Given the description of an element on the screen output the (x, y) to click on. 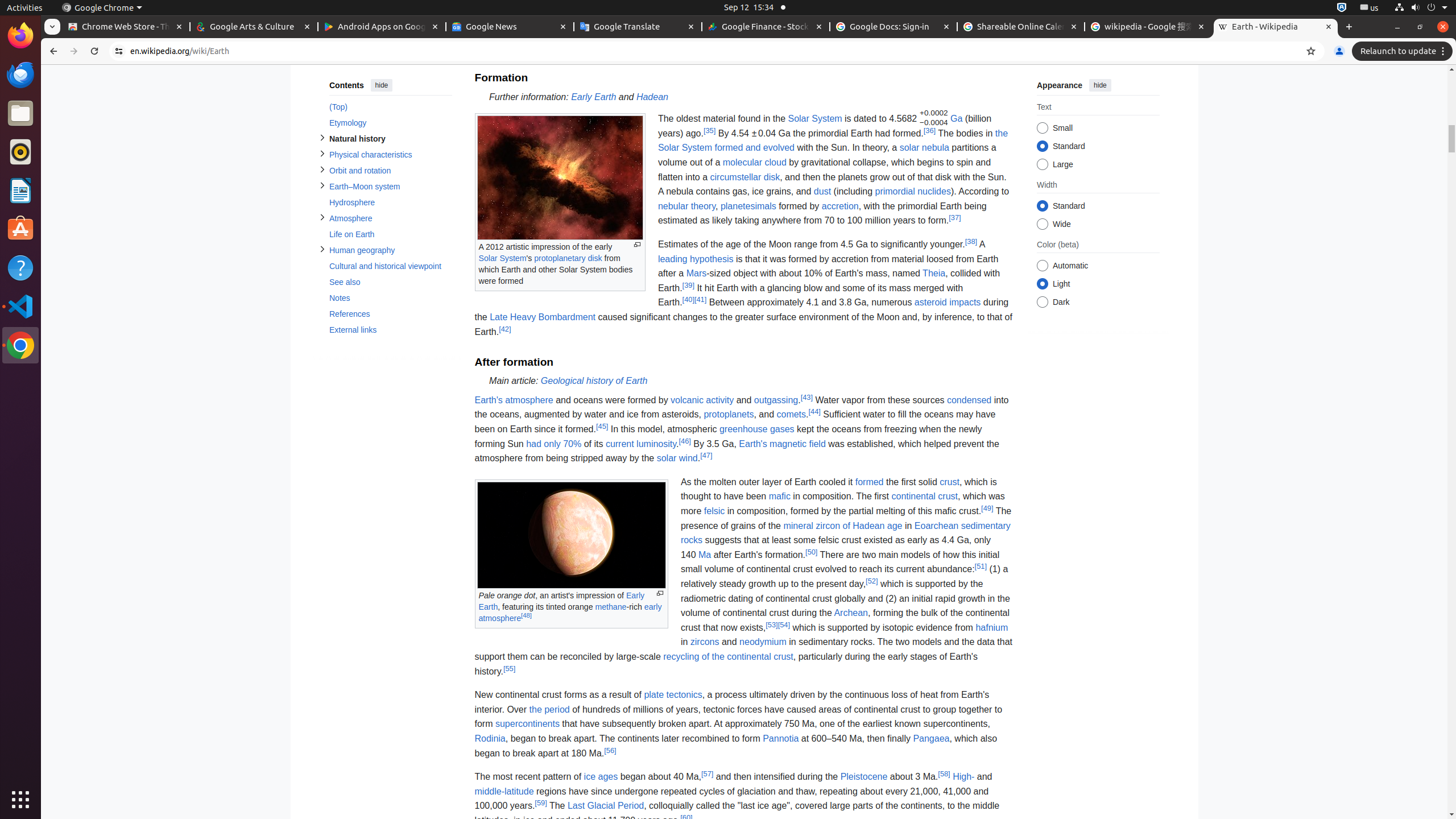
Hadean Element type: link (651, 96)
Mars Element type: link (695, 273)
View site information Element type: push-button (118, 51)
Pangaea Element type: link (930, 738)
Natural history Element type: link (390, 138)
